Given the description of an element on the screen output the (x, y) to click on. 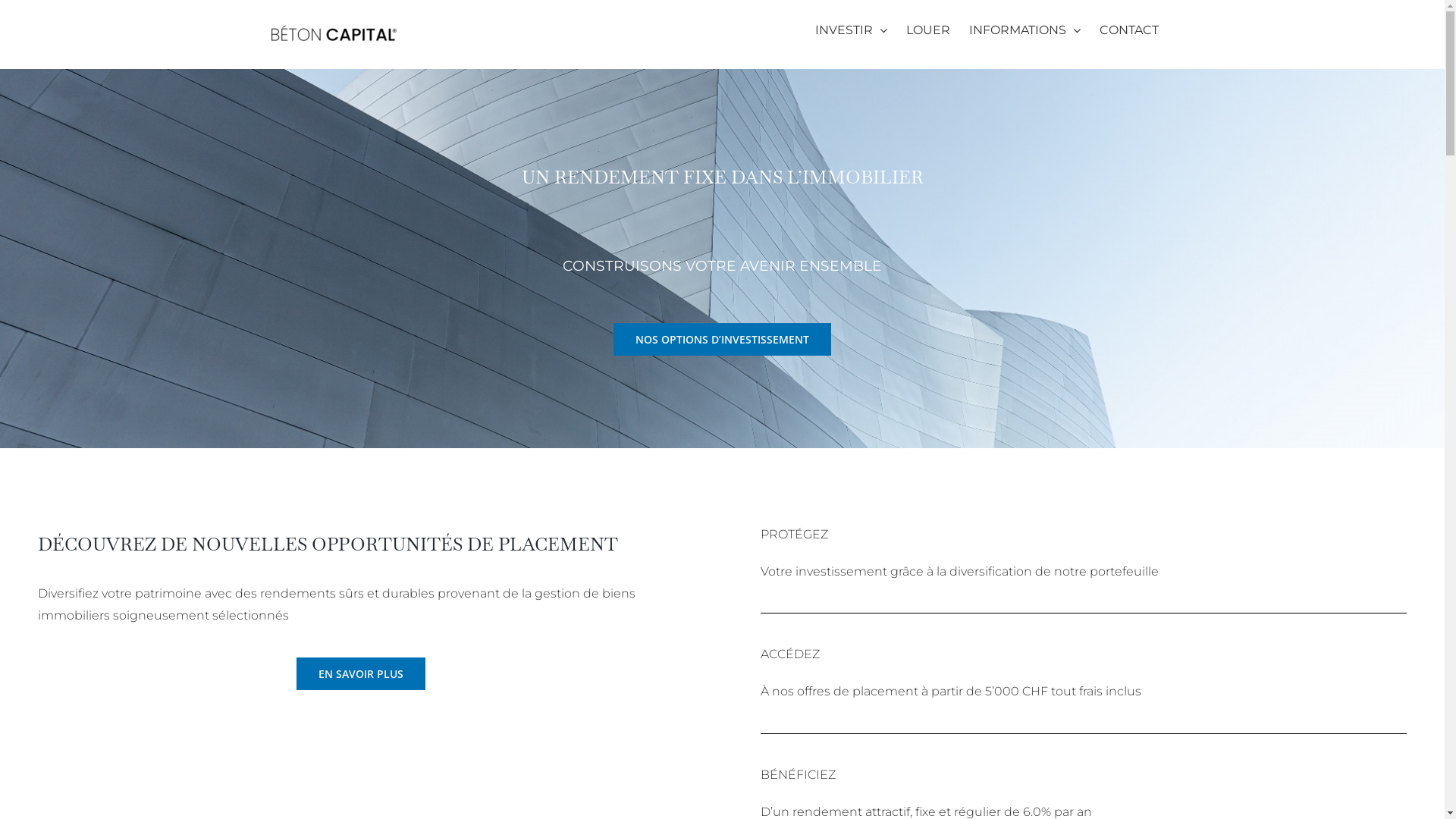
CONTACT Element type: text (1128, 30)
LOUER Element type: text (927, 30)
INVESTIR Element type: text (850, 30)
EN SAVOIR PLUS Element type: text (360, 673)
INFORMATIONS Element type: text (1024, 30)
